Given the description of an element on the screen output the (x, y) to click on. 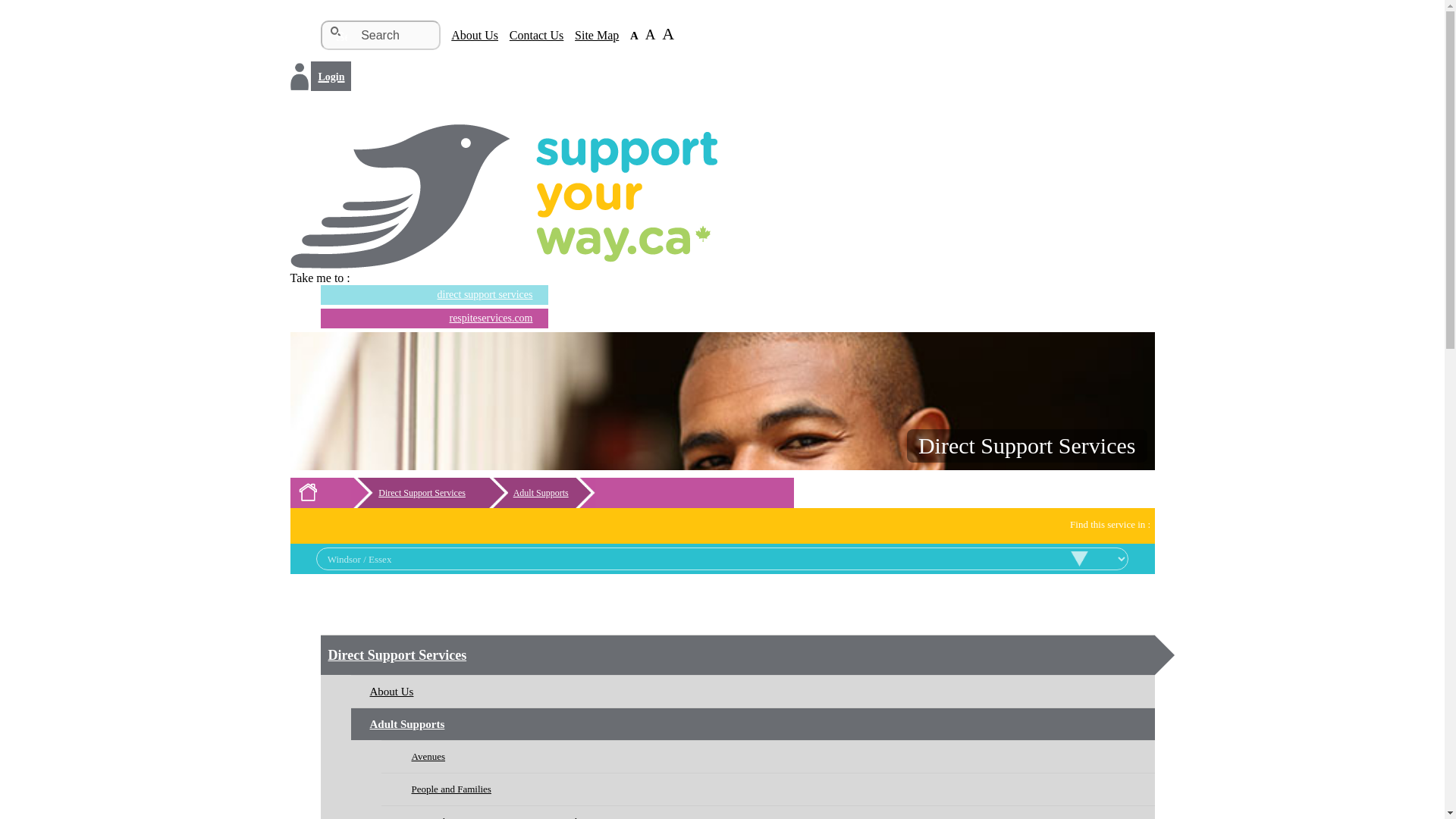
Search (379, 34)
Default Font Size (630, 34)
Larger Font Size (671, 34)
respiteservices.com (426, 318)
A (630, 34)
direct support services (426, 295)
A (671, 34)
Search (335, 32)
Adult Supports (541, 492)
A (649, 34)
About Us (469, 34)
Login (330, 75)
Search (335, 32)
Site Map (592, 34)
Large Font Size (649, 34)
